Given the description of an element on the screen output the (x, y) to click on. 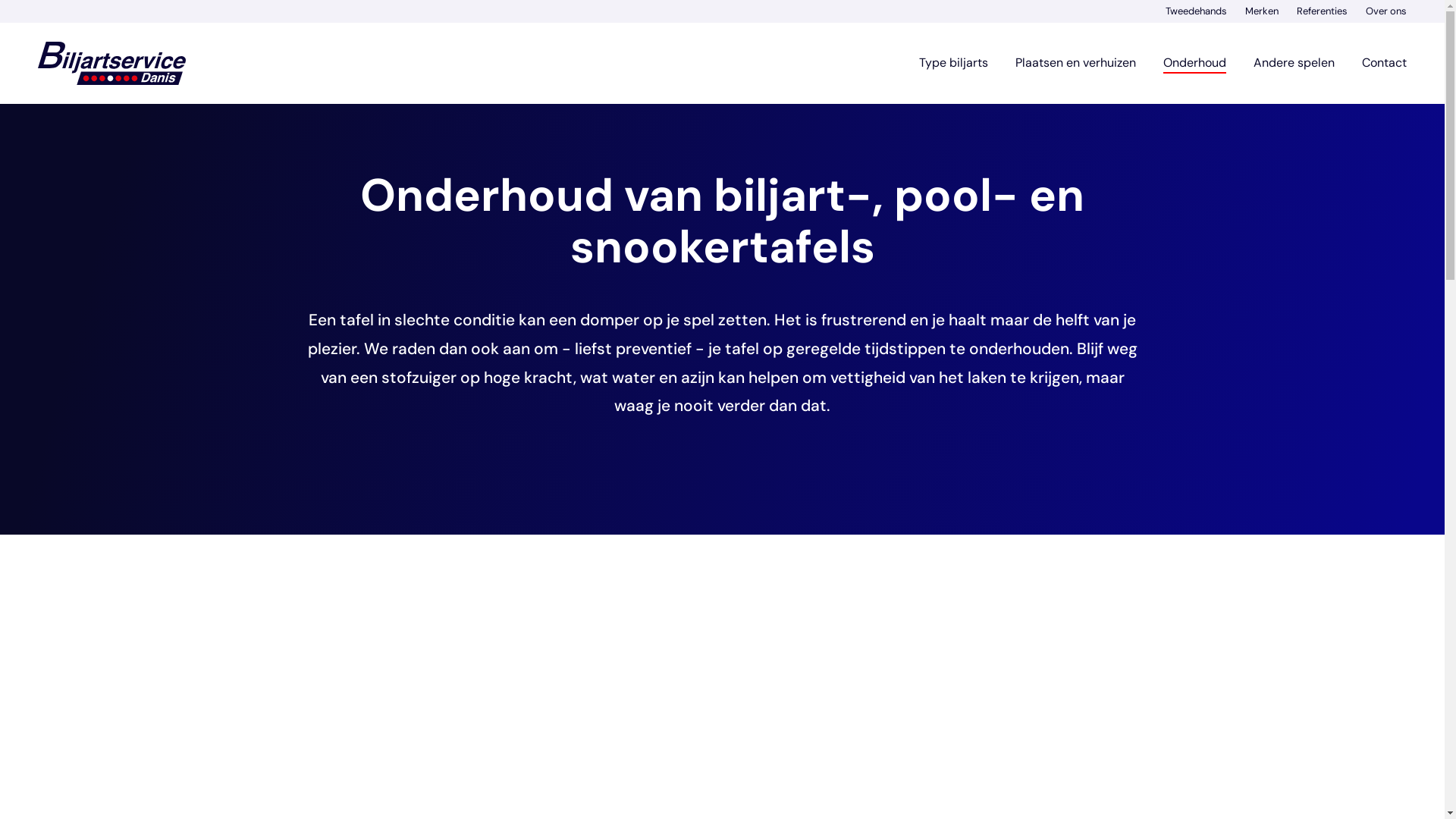
Tweedehands Element type: text (1195, 11)
Plaatsen en verhuizen Element type: text (1075, 62)
Merken Element type: text (1261, 11)
Over ons Element type: text (1385, 11)
Contact Element type: text (1383, 62)
Andere spelen Element type: text (1293, 62)
Onderhoud Element type: text (1194, 62)
Type biljarts Element type: text (953, 62)
Referenties Element type: text (1321, 11)
